Given the description of an element on the screen output the (x, y) to click on. 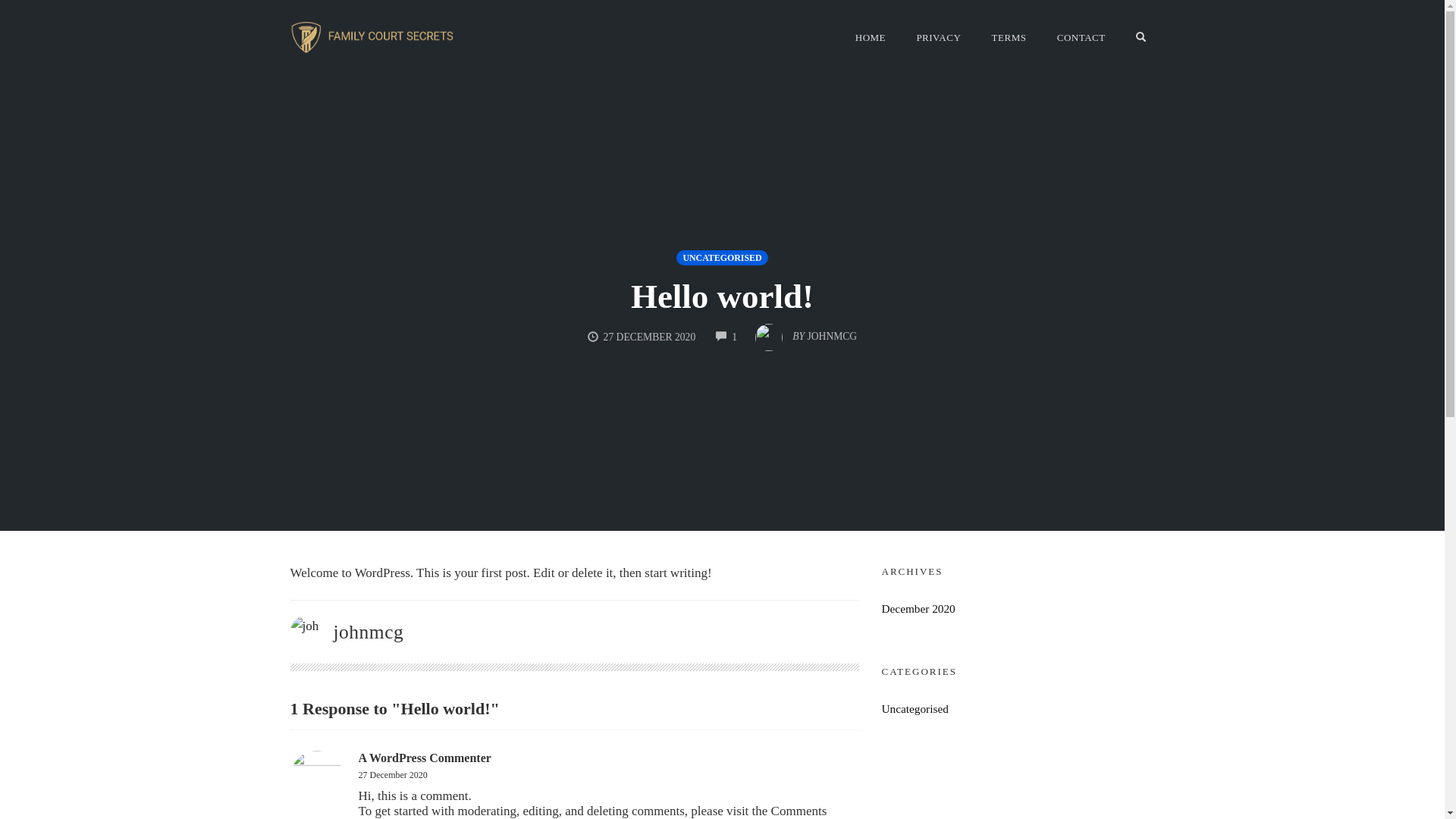
December 2020 Element type: text (917, 608)
1
COMMENTS Element type: text (726, 336)
A WordPress Commenter Element type: text (423, 757)
PRIVACY Element type: text (938, 37)
Hello world! Element type: text (721, 296)
johnmcg Element type: text (368, 632)
BY JOHNMCG Element type: text (805, 332)
Uncategorised Element type: text (914, 708)
Family Court Secrets Element type: hover (372, 37)
TERMS Element type: text (1009, 37)
OPEN SEARCH FORM Element type: text (1140, 37)
UNCATEGORISED Element type: text (721, 257)
CONTACT Element type: text (1080, 37)
HOME Element type: text (870, 37)
